Given the description of an element on the screen output the (x, y) to click on. 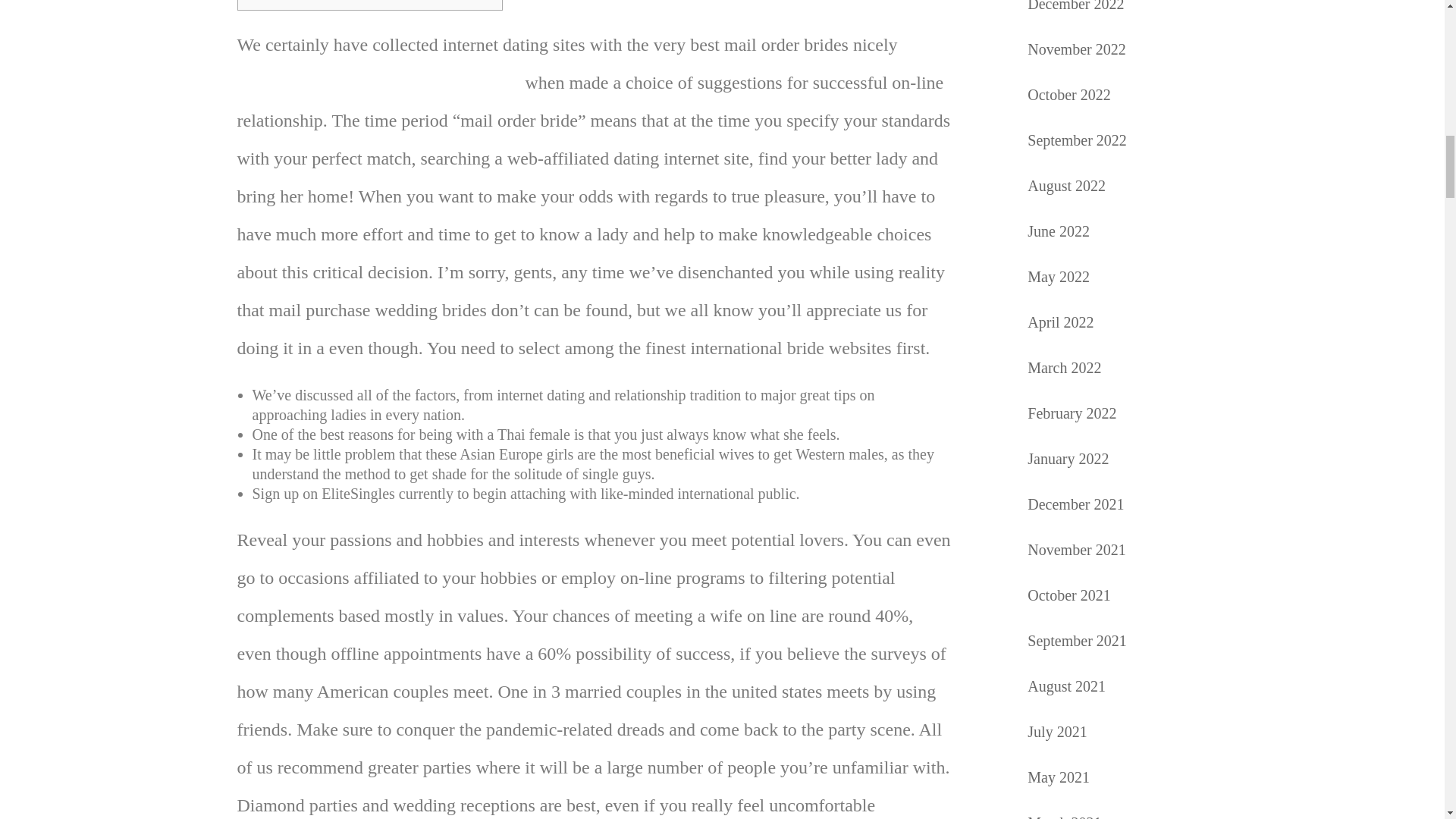
September 2022 (1076, 139)
November 2022 (1076, 48)
December 2022 (1075, 6)
October 2022 (1068, 94)
June 2022 (1058, 230)
August 2022 (1066, 185)
